Given the description of an element on the screen output the (x, y) to click on. 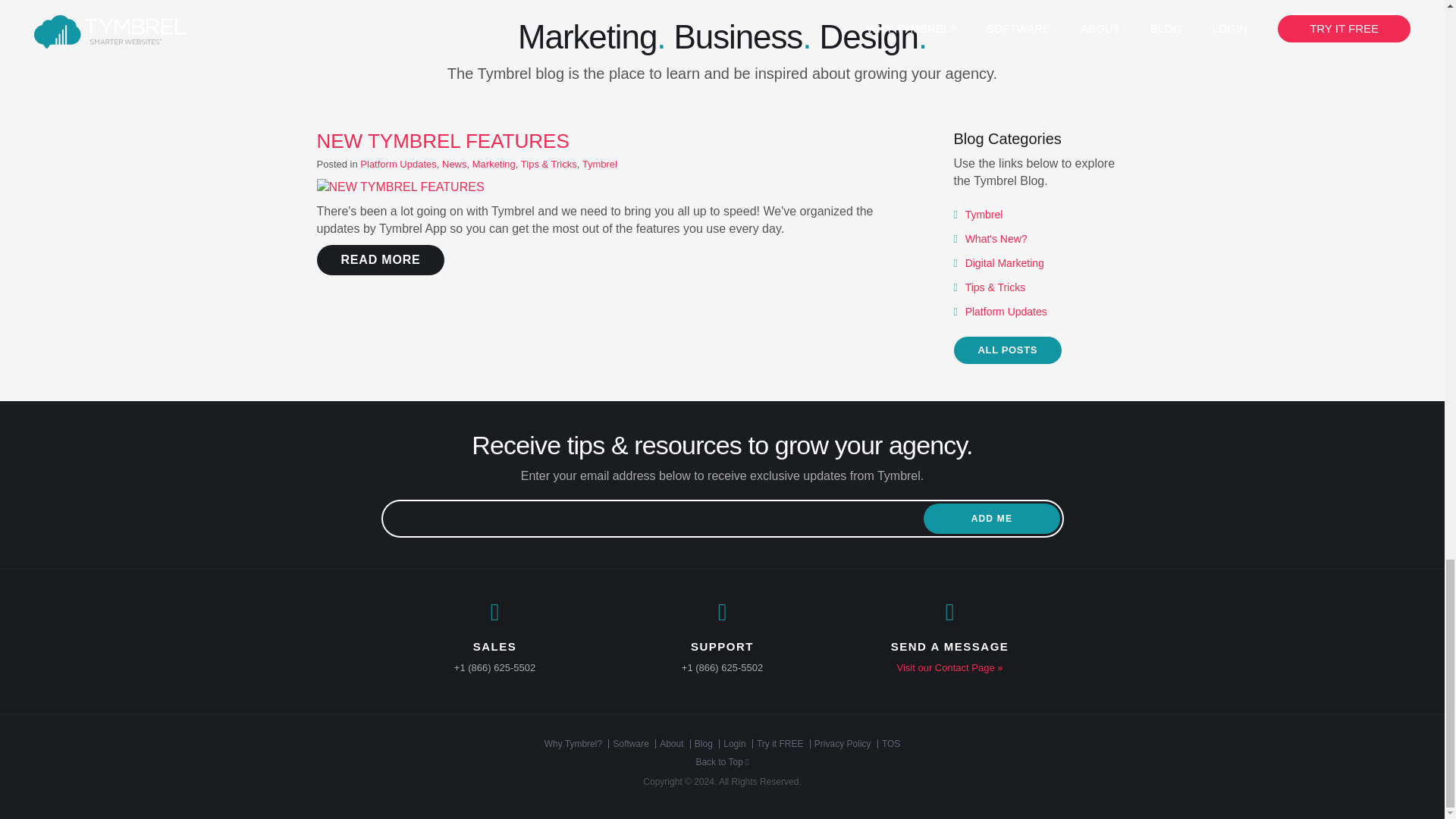
Tymbrel (599, 163)
What's New? (996, 238)
Platform Updates (397, 163)
NEW TYMBREL FEATURES (443, 140)
READ MORE (381, 259)
Contact Tymbrel Smarter Websites (949, 667)
Add Me (991, 518)
News (454, 163)
Platform Updates (1005, 311)
Digital Marketing (1004, 263)
Tymbrel (984, 214)
Read The Tymbrel Blog (1007, 349)
Marketing (493, 163)
